Given the description of an element on the screen output the (x, y) to click on. 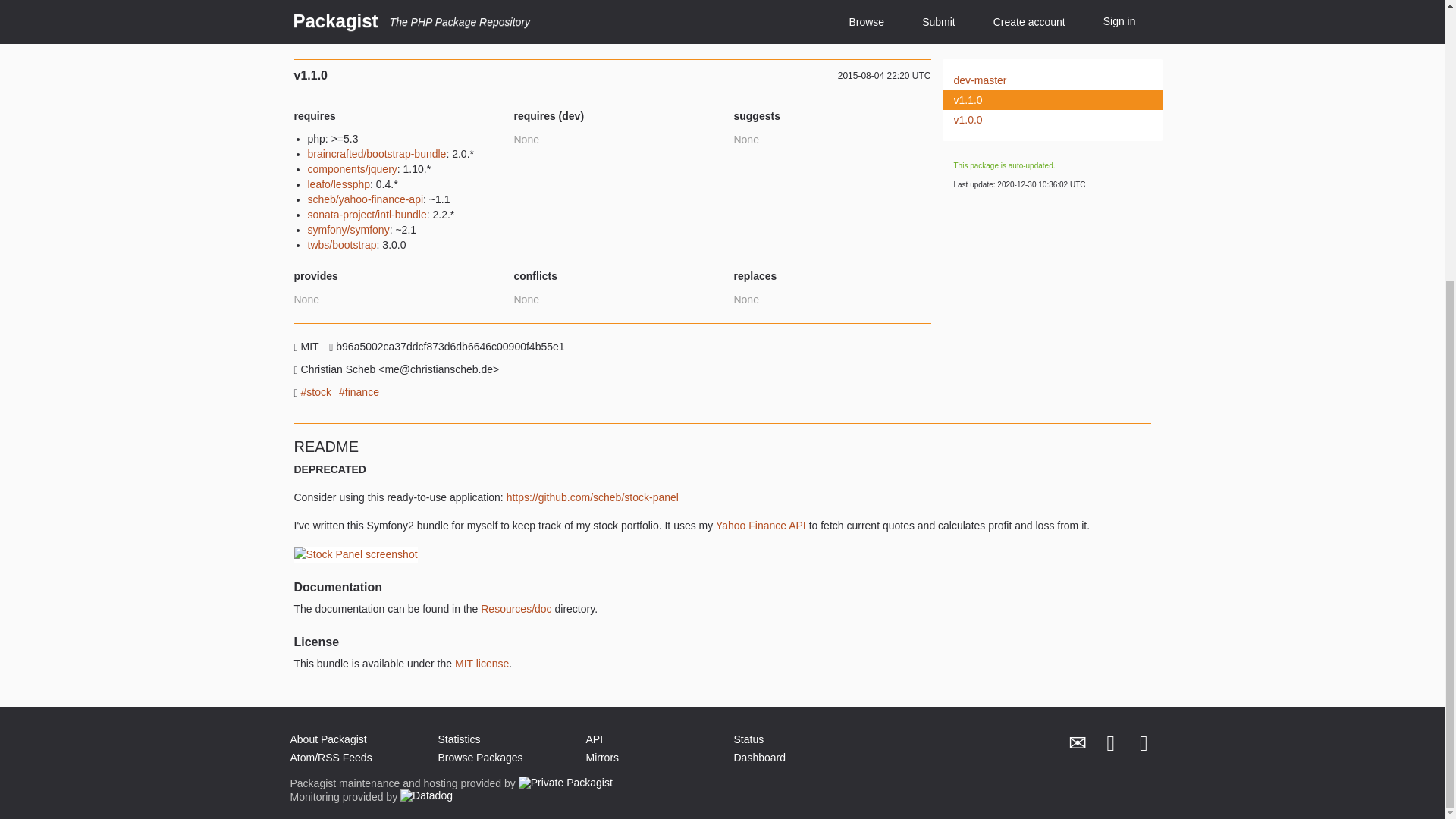
Yahoo Finance API (761, 525)
Forks (966, 1)
finance (358, 392)
v1.0.0 (1043, 120)
v1.1.0 (1043, 100)
stock (316, 392)
GitHub (1143, 743)
Open Issues (983, 11)
dev-master (1043, 81)
Contact (1078, 743)
